Given the description of an element on the screen output the (x, y) to click on. 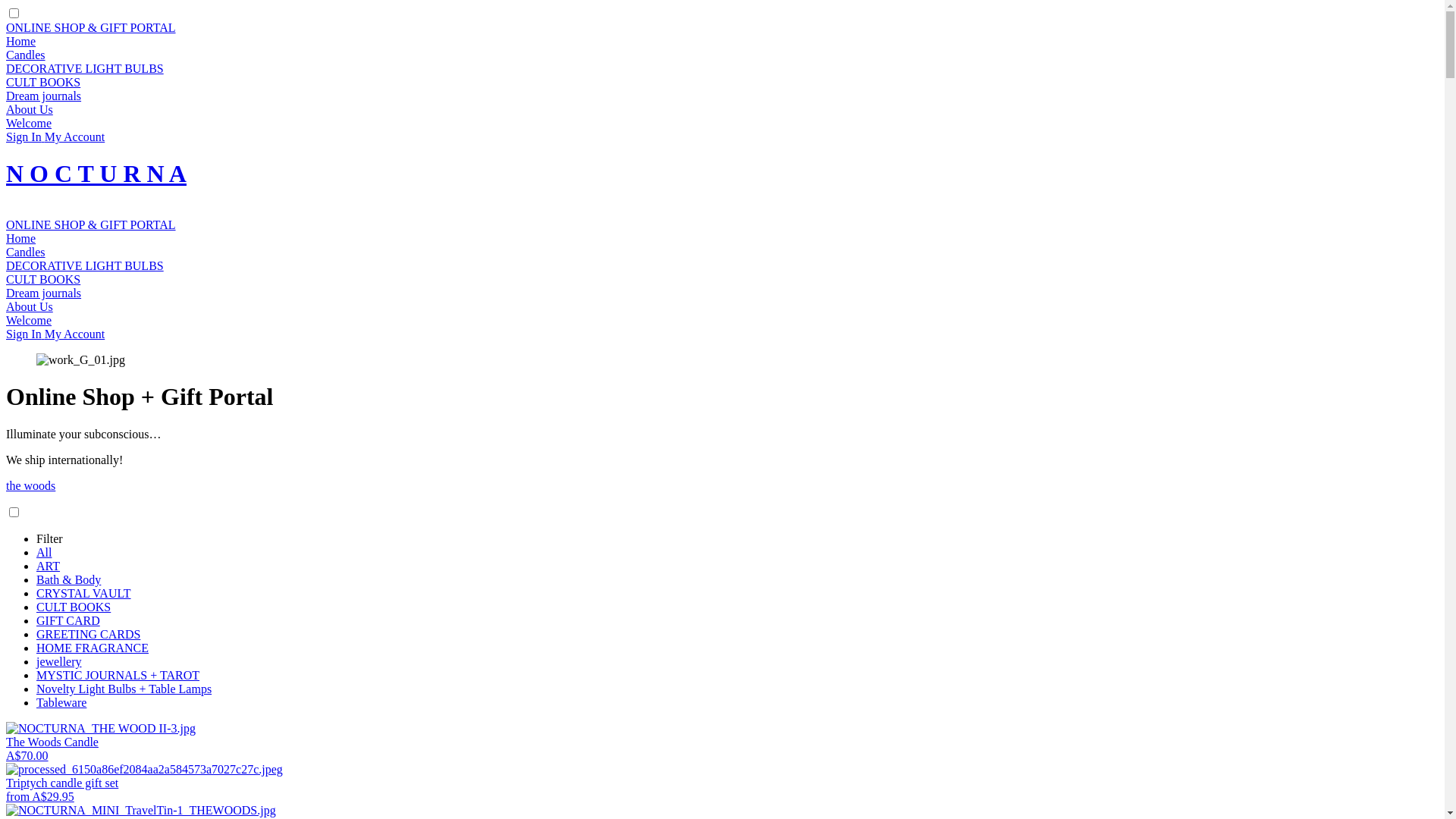
Tableware Element type: text (61, 702)
Candles Element type: text (25, 251)
Sign In My Account Element type: text (55, 333)
CRYSTAL VAULT Element type: text (83, 592)
CULT BOOKS Element type: text (43, 81)
About Us Element type: text (29, 306)
Novelty Light Bulbs + Table Lamps Element type: text (123, 688)
All Element type: text (43, 552)
the woods Element type: text (30, 485)
MYSTIC JOURNALS + TAROT Element type: text (117, 674)
Dream journals Element type: text (43, 95)
Filter Element type: text (49, 538)
Dream journals Element type: text (43, 292)
CULT BOOKS Element type: text (73, 606)
jewellery Element type: text (58, 661)
GREETING CARDS Element type: text (88, 633)
Candles Element type: text (25, 54)
ONLINE SHOP & GIFT PORTAL Element type: text (90, 27)
ONLINE SHOP & GIFT PORTAL Element type: text (90, 224)
ART Element type: text (47, 565)
HOME FRAGRANCE Element type: text (92, 647)
About Us Element type: text (29, 109)
GIFT CARD Element type: text (68, 620)
N O C T U R N A Element type: text (96, 173)
Bath & Body Element type: text (68, 579)
Home Element type: text (20, 40)
CULT BOOKS Element type: text (43, 279)
The Woods Candle
A$70.00 Element type: text (722, 741)
DECORATIVE LIGHT BULBS Element type: text (84, 265)
Sign In My Account Element type: text (55, 136)
Home Element type: text (20, 238)
Welcome Element type: text (28, 319)
Triptych candle gift set
from A$29.95 Element type: text (722, 782)
Welcome Element type: text (28, 122)
DECORATIVE LIGHT BULBS Element type: text (84, 68)
